Given the description of an element on the screen output the (x, y) to click on. 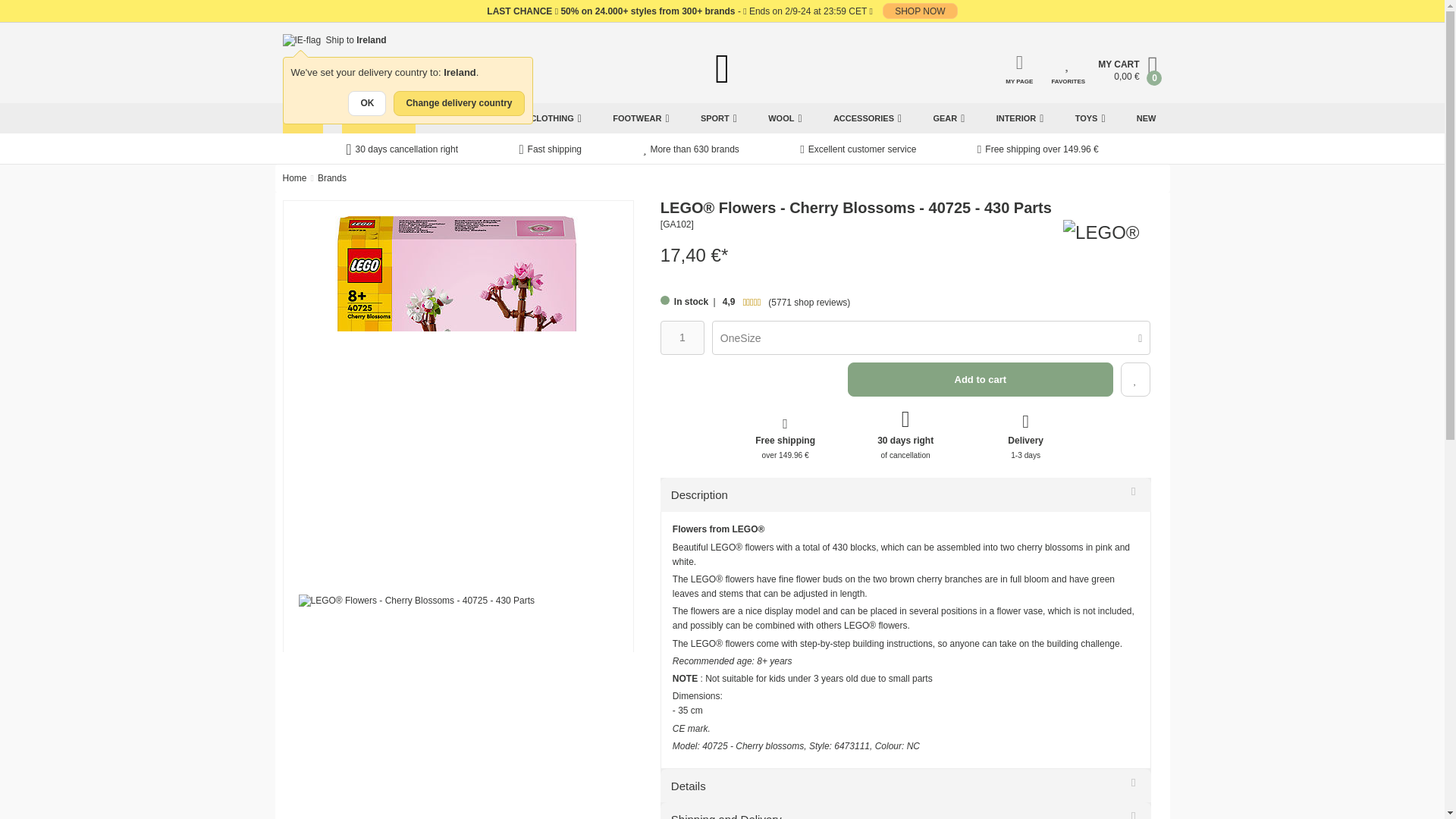
Excellent customer service (857, 149)
WOOL (784, 118)
GEAR (948, 118)
Fast shipping (549, 149)
INTERIOR (1019, 118)
KIDS CLOTHING (545, 118)
OK (366, 103)
Home (293, 177)
SHOP NOW (919, 10)
SUMMER SALE (378, 118)
